Given the description of an element on the screen output the (x, y) to click on. 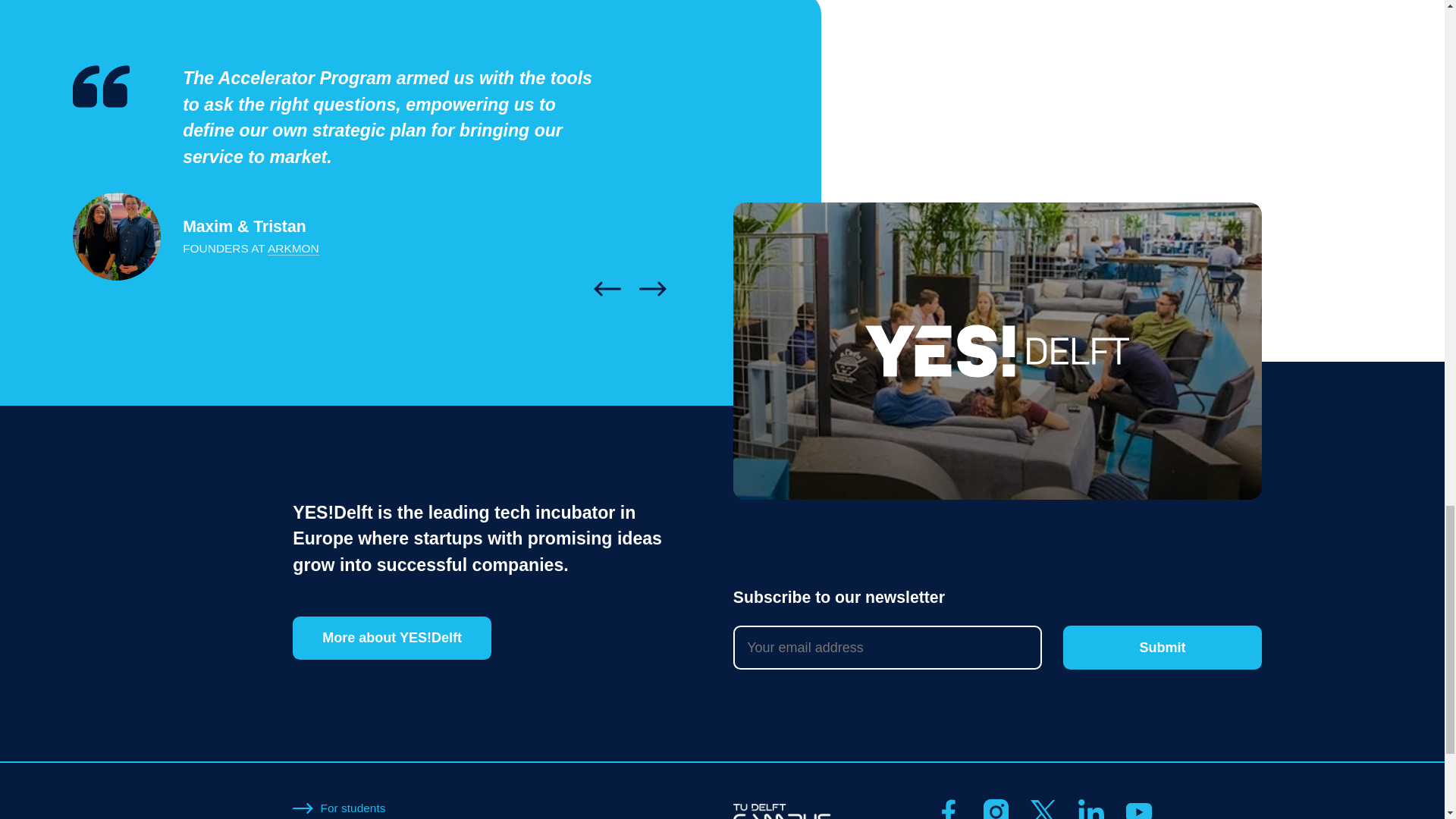
More about YES!Delft (392, 638)
For students (352, 807)
YouTube (1138, 809)
LinkedIn (1090, 809)
Instagram (996, 809)
X (1043, 809)
Submit (1162, 647)
Facebook (948, 809)
ARKMON (292, 248)
